Given the description of an element on the screen output the (x, y) to click on. 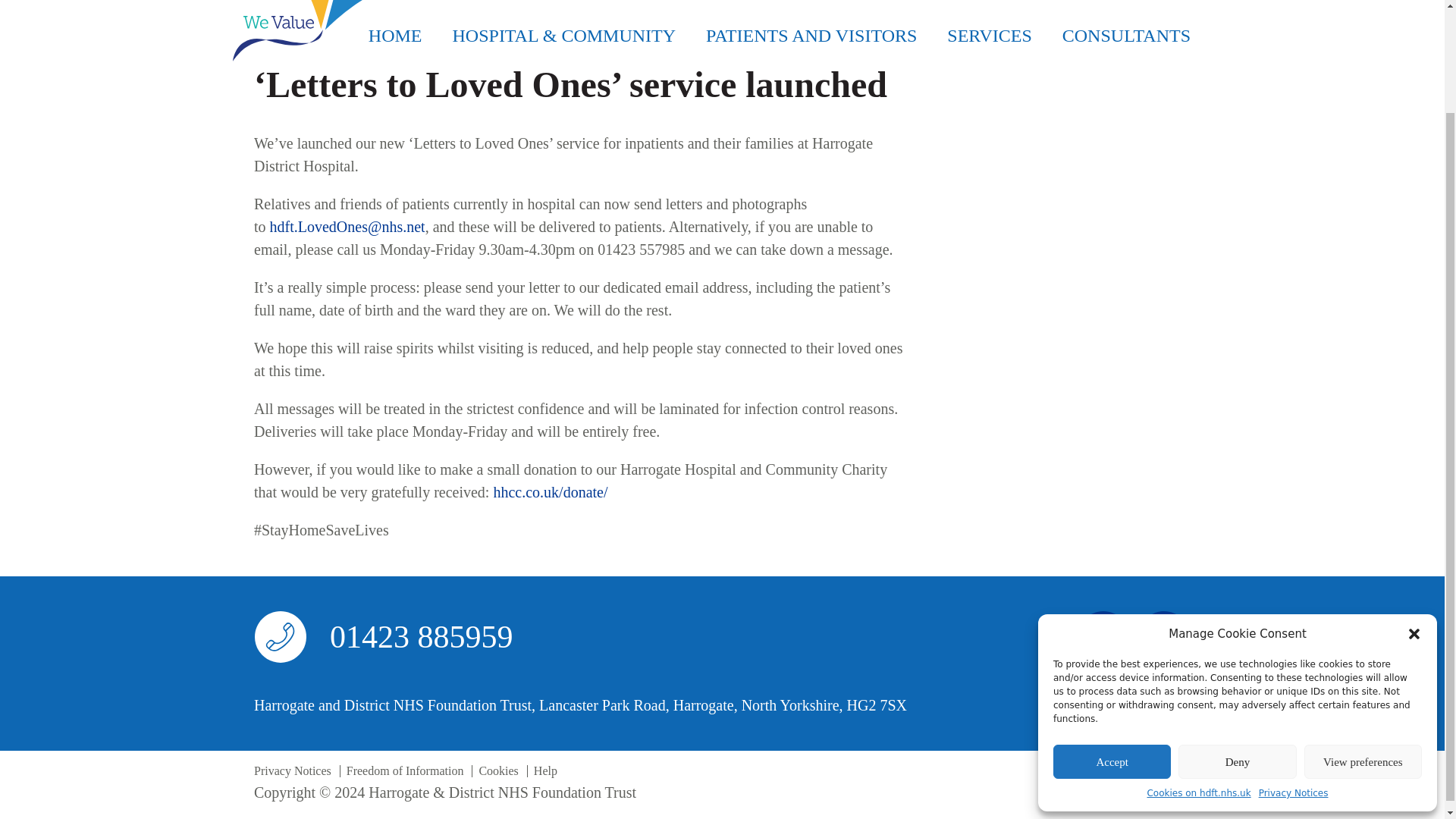
Deny (1236, 640)
Privacy Notices (1293, 671)
Cookies on hdft.nhs.uk (1198, 671)
View preferences (1363, 640)
Accept (1111, 640)
